Given the description of an element on the screen output the (x, y) to click on. 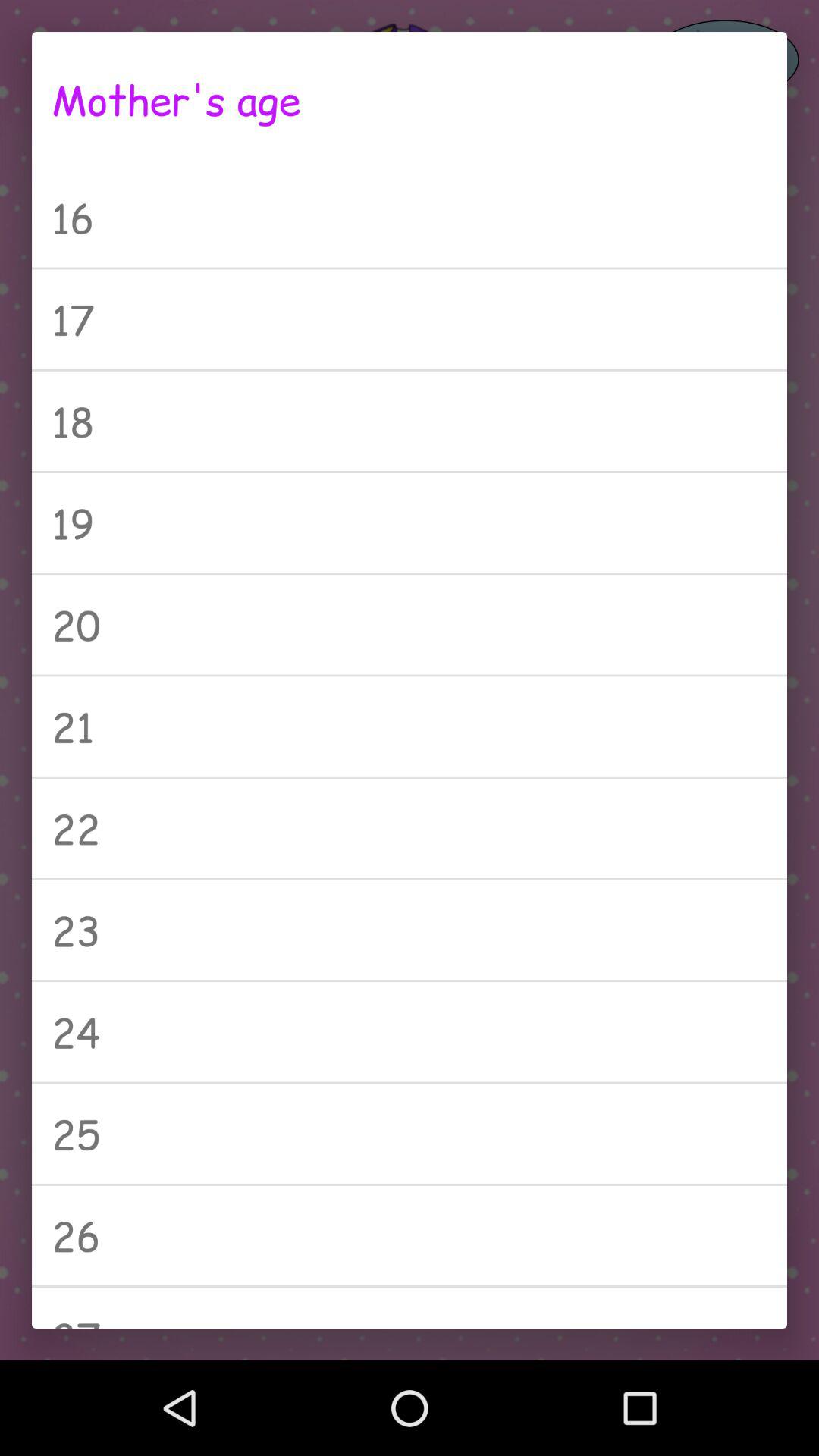
launch icon above the 21 icon (409, 624)
